Given the description of an element on the screen output the (x, y) to click on. 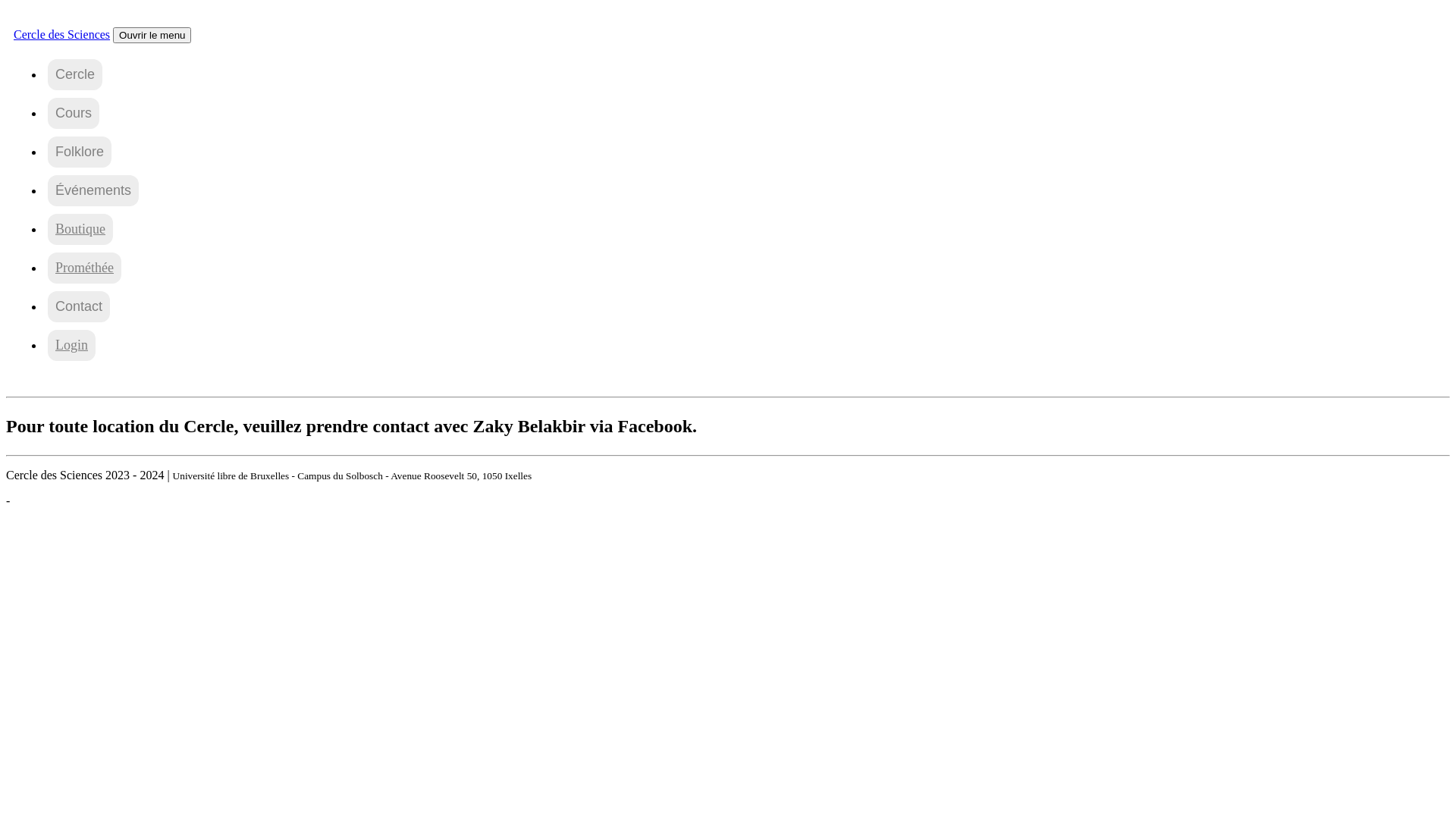
Boutique Element type: text (79, 228)
Cercle des Sciences Element type: text (54, 12)
Login Element type: text (71, 344)
Cercle Element type: text (74, 74)
Contact Element type: text (78, 306)
Cercle des Sciences Element type: text (61, 34)
Ouvrir le menu Element type: text (151, 35)
Folklore Element type: text (79, 151)
Cours Element type: text (73, 112)
